Given the description of an element on the screen output the (x, y) to click on. 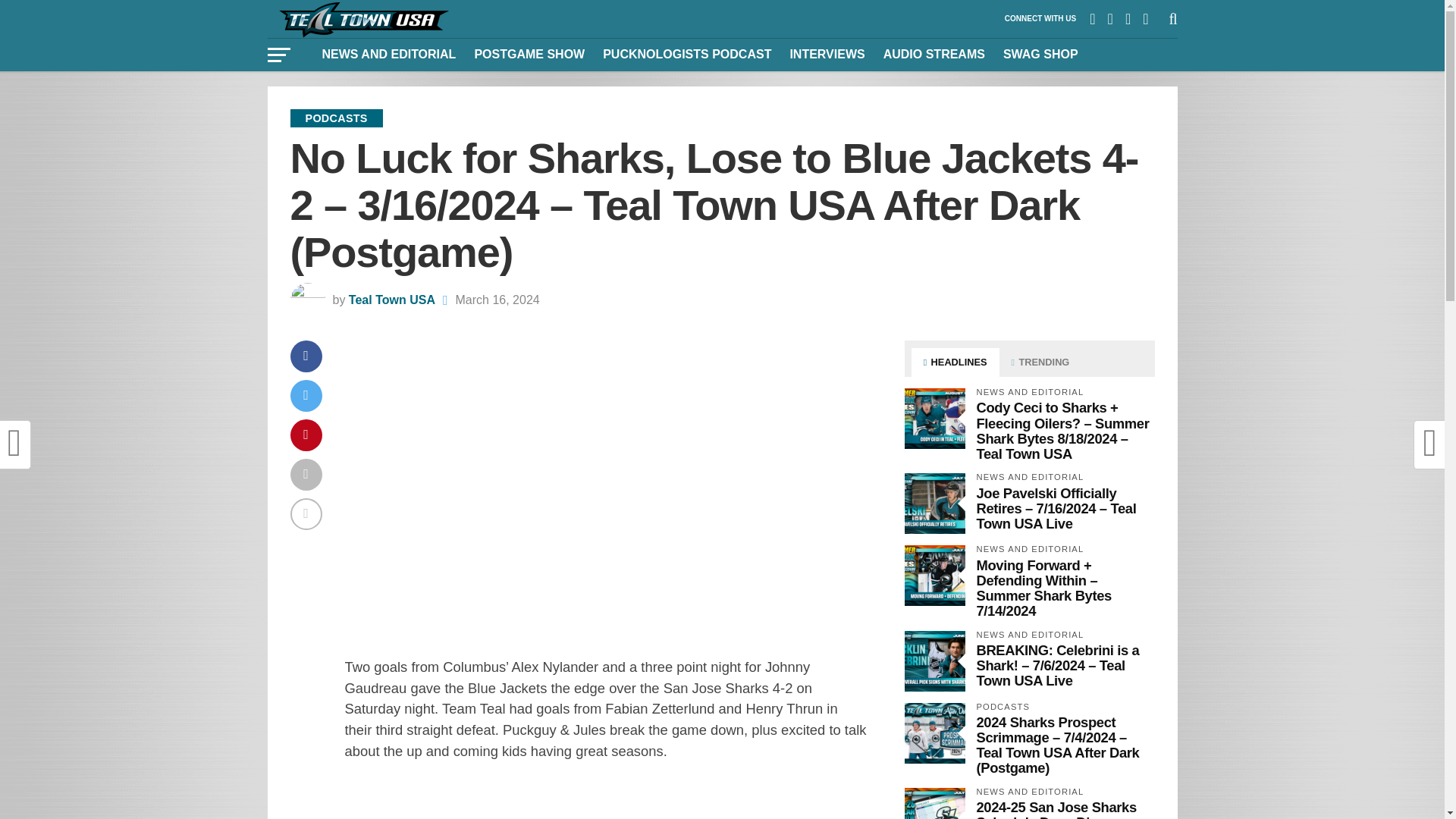
Posts by Teal Town USA (392, 299)
AUDIO STREAMS (934, 54)
INTERVIEWS (826, 54)
NEWS AND EDITORIAL (388, 54)
PUCKNOLOGISTS PODCAST (687, 54)
POSTGAME SHOW (529, 54)
